Given the description of an element on the screen output the (x, y) to click on. 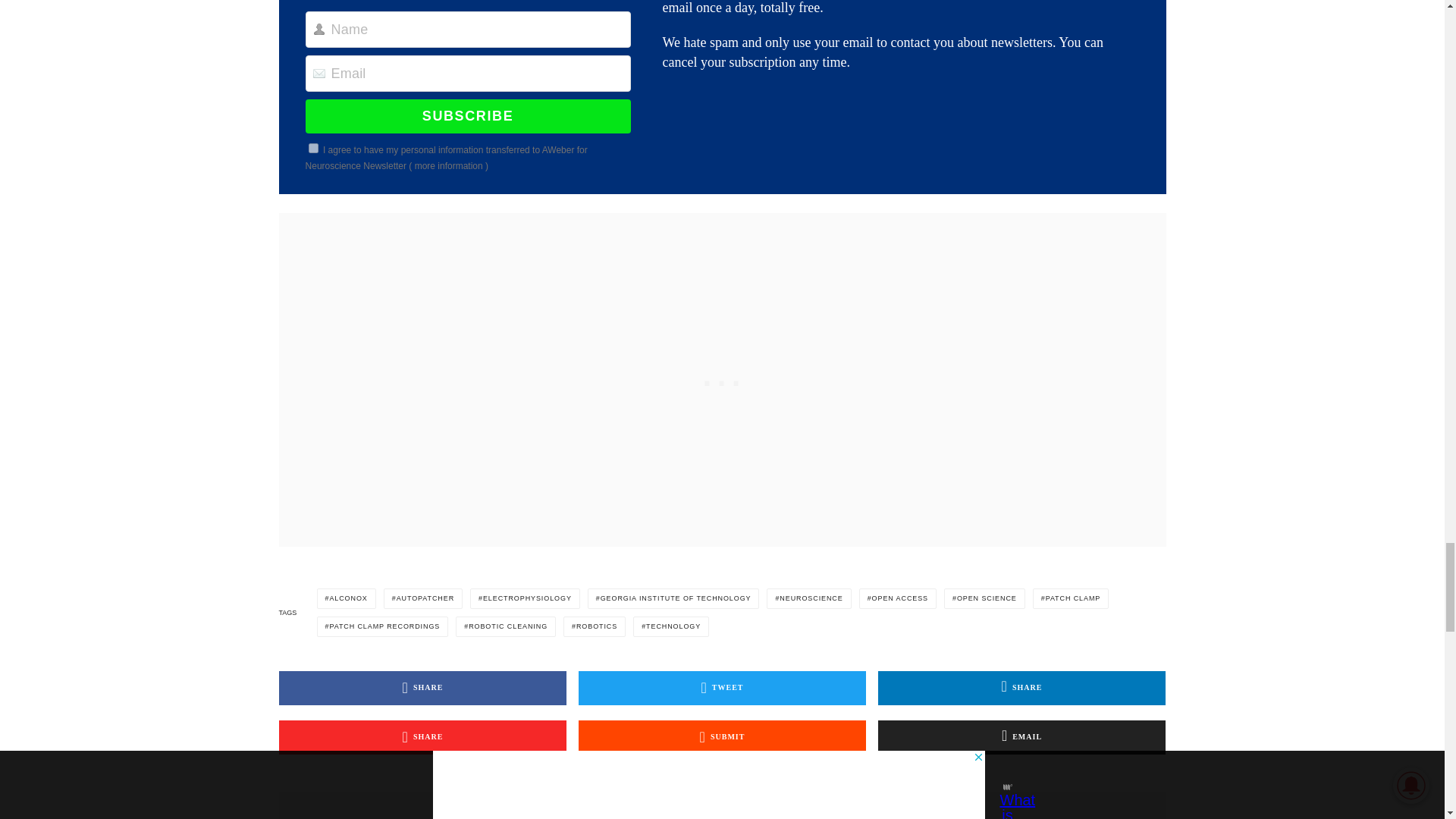
TWEET (722, 687)
SHARE (423, 687)
GEORGIA INSTITUTE OF TECHNOLOGY (674, 598)
on (313, 148)
OPEN SCIENCE (984, 598)
PATCH CLAMP RECORDINGS (382, 626)
SUBSCRIBE (467, 115)
OPEN ACCESS (897, 598)
SHARE (423, 737)
TECHNOLOGY (671, 626)
ROBOTICS (594, 626)
ALCONOX (346, 598)
AUTOPATCHER (423, 598)
more information (448, 165)
NEUROSCIENCE (808, 598)
